Given the description of an element on the screen output the (x, y) to click on. 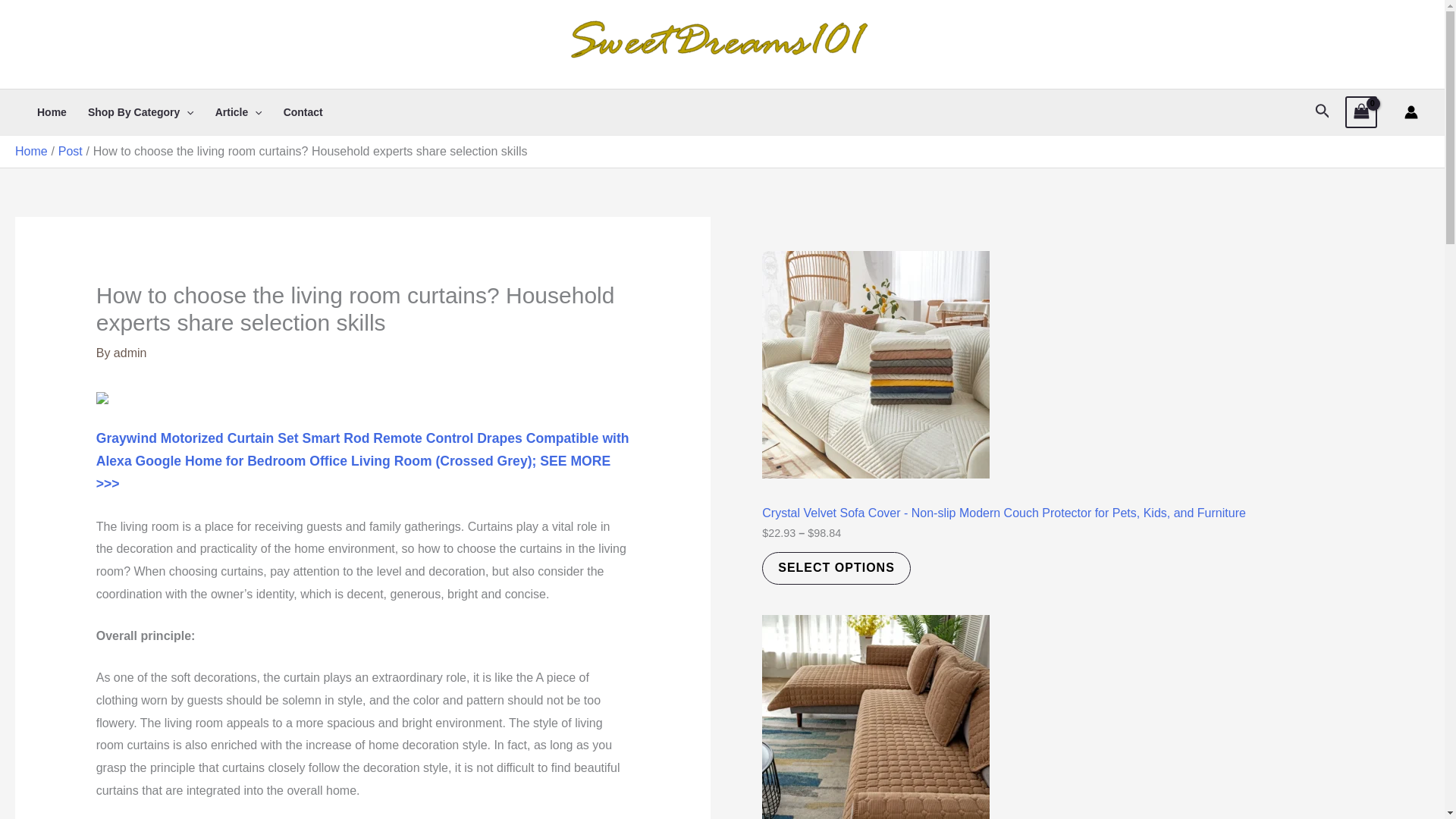
Search (1322, 112)
Contact (303, 112)
Article (239, 112)
View all posts by admin (130, 352)
Home (51, 112)
Shop By Category (141, 112)
